Given the description of an element on the screen output the (x, y) to click on. 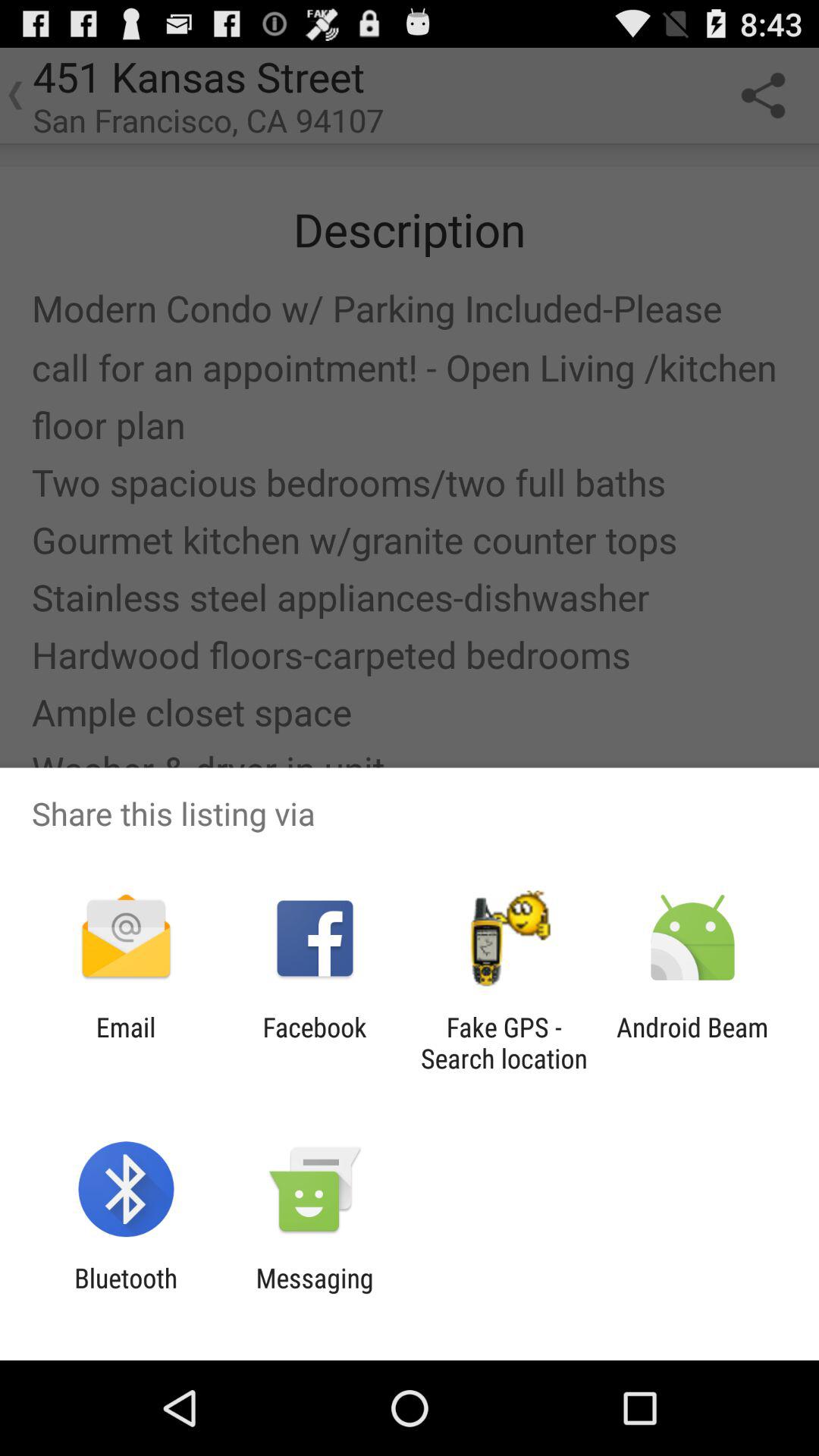
press the app next to the facebook app (125, 1042)
